Given the description of an element on the screen output the (x, y) to click on. 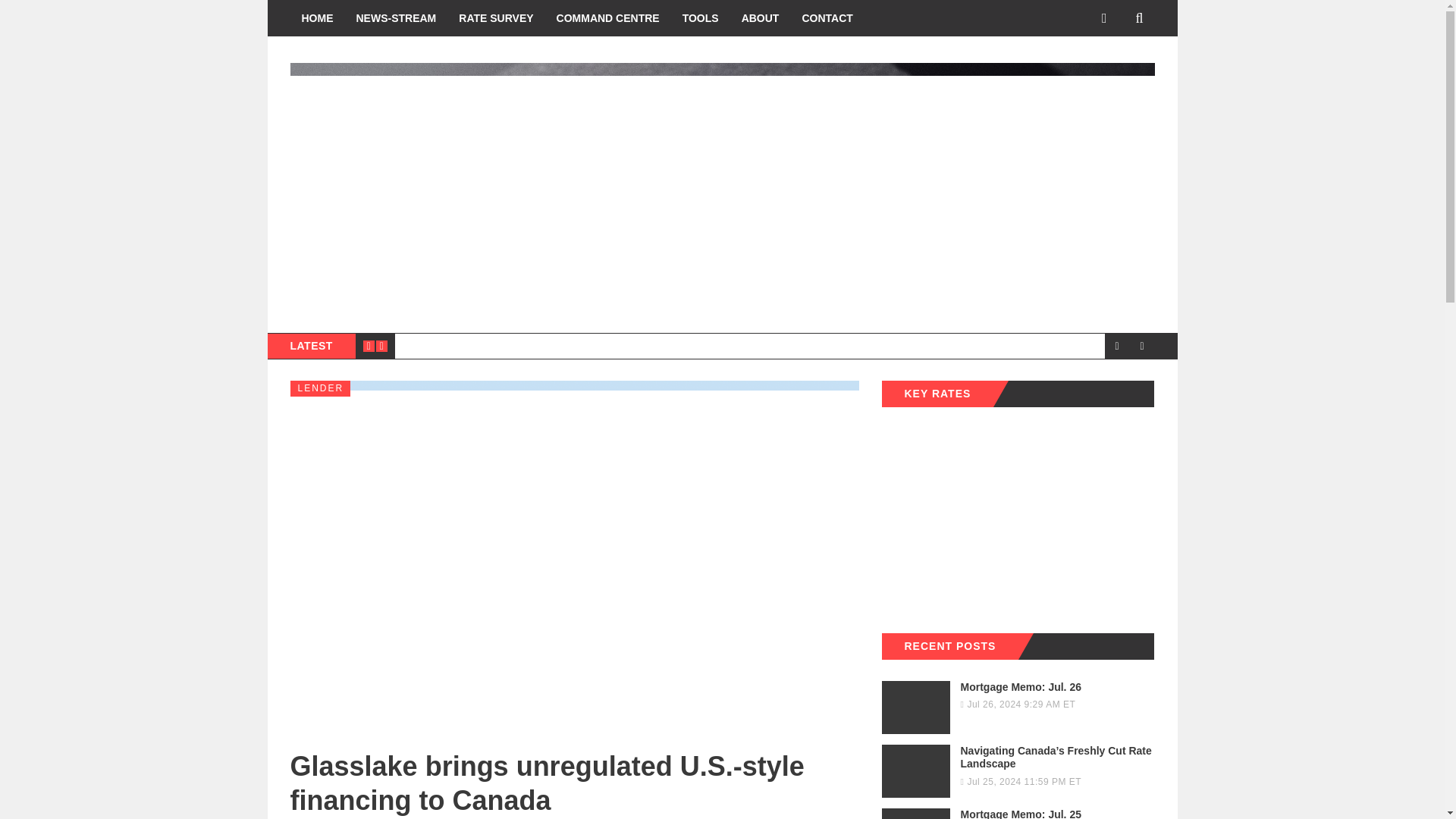
COMMAND CENTRE (607, 18)
LENDER (319, 388)
CONTACT (826, 18)
NEWS-STREAM (1017, 697)
RATE SURVEY (394, 18)
HOME (1017, 813)
ABOUT (495, 18)
TOOLS (316, 18)
